Given the description of an element on the screen output the (x, y) to click on. 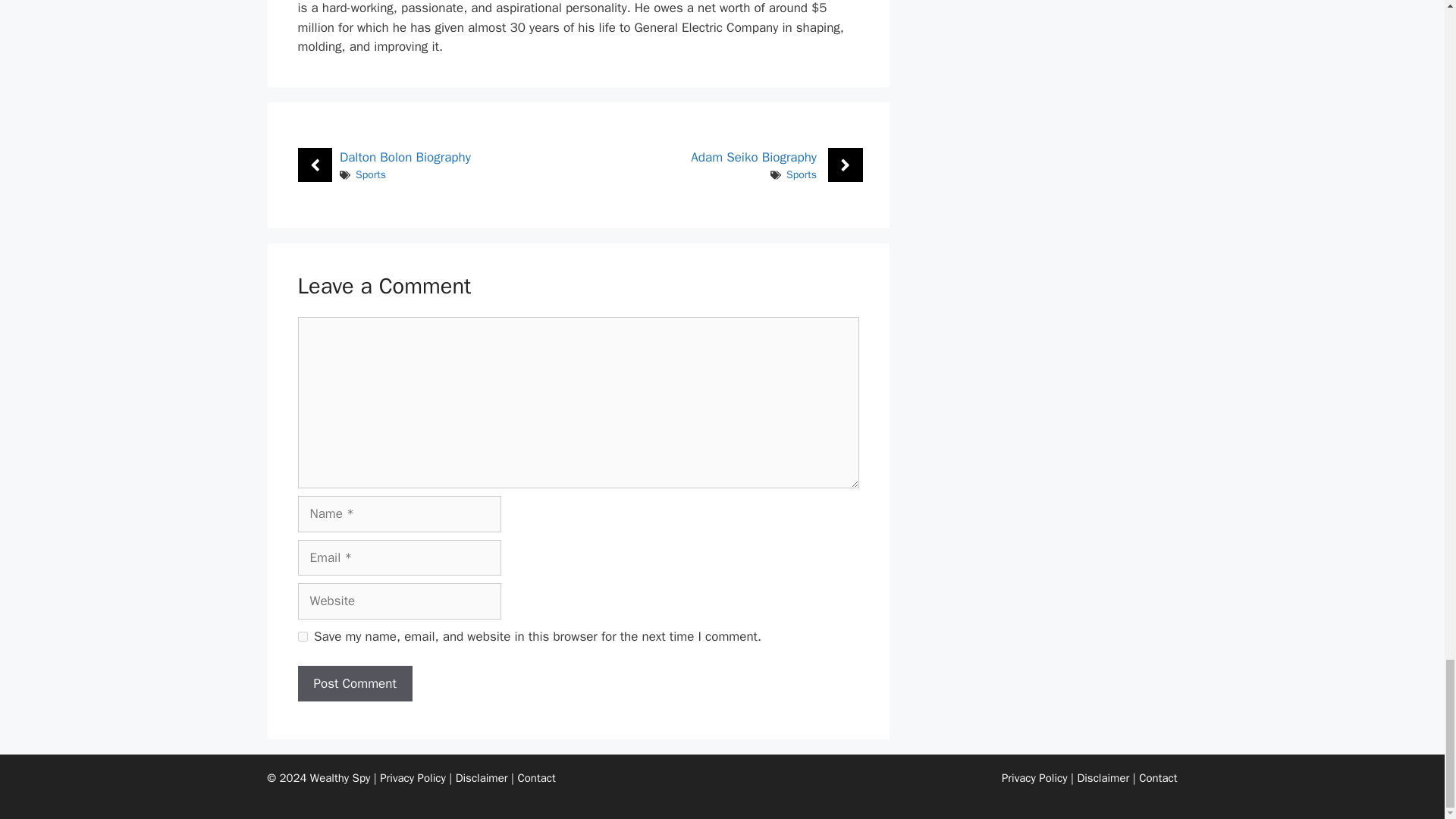
Post Comment (354, 683)
Sports (801, 174)
Post Comment (354, 683)
Dalton Bolon Biography (404, 157)
Sports (370, 174)
Adam Seiko Biography (753, 157)
yes (302, 636)
